Given the description of an element on the screen output the (x, y) to click on. 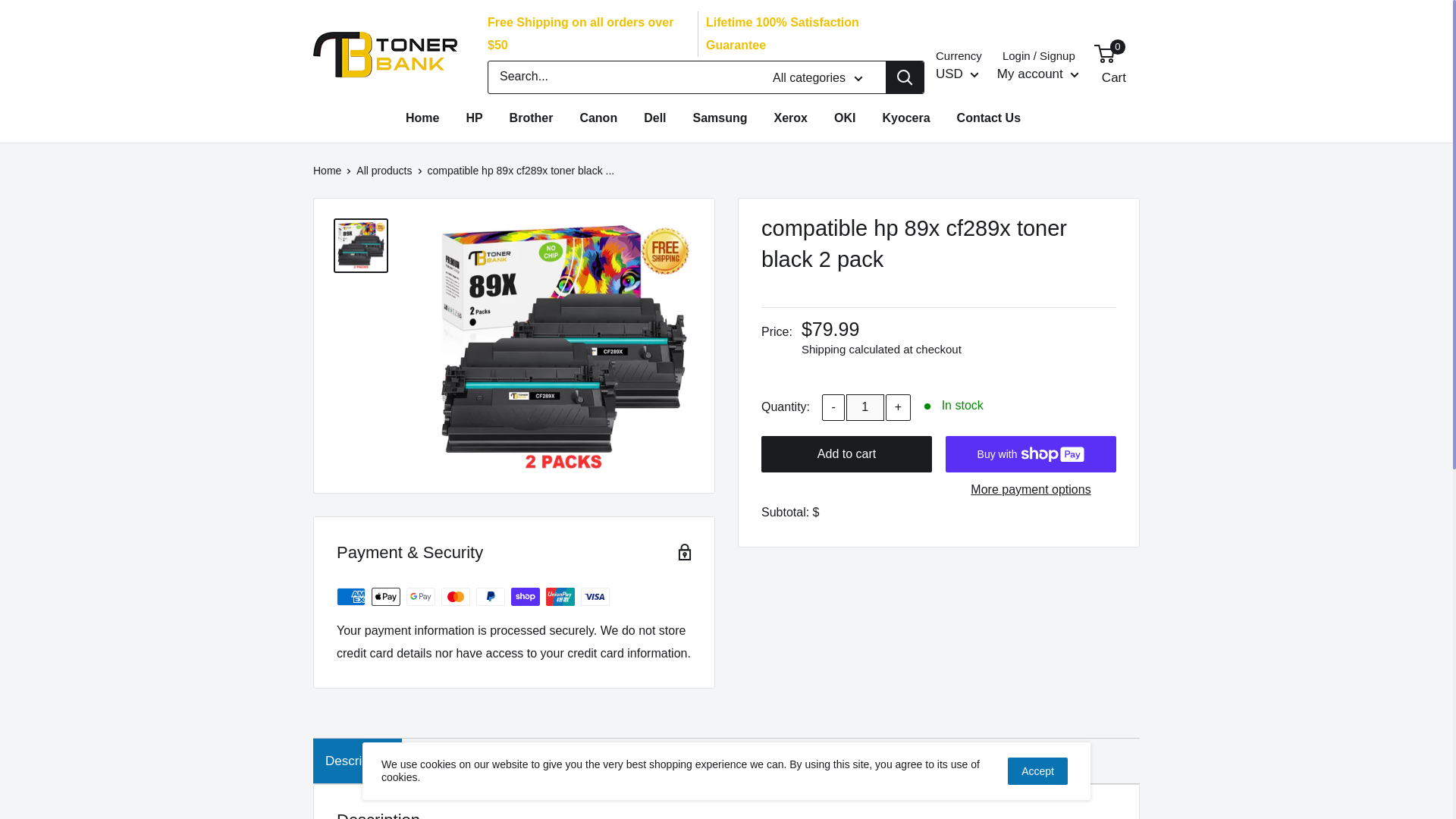
USD (957, 74)
Home (422, 118)
1 (864, 406)
My account (1037, 74)
